Given the description of an element on the screen output the (x, y) to click on. 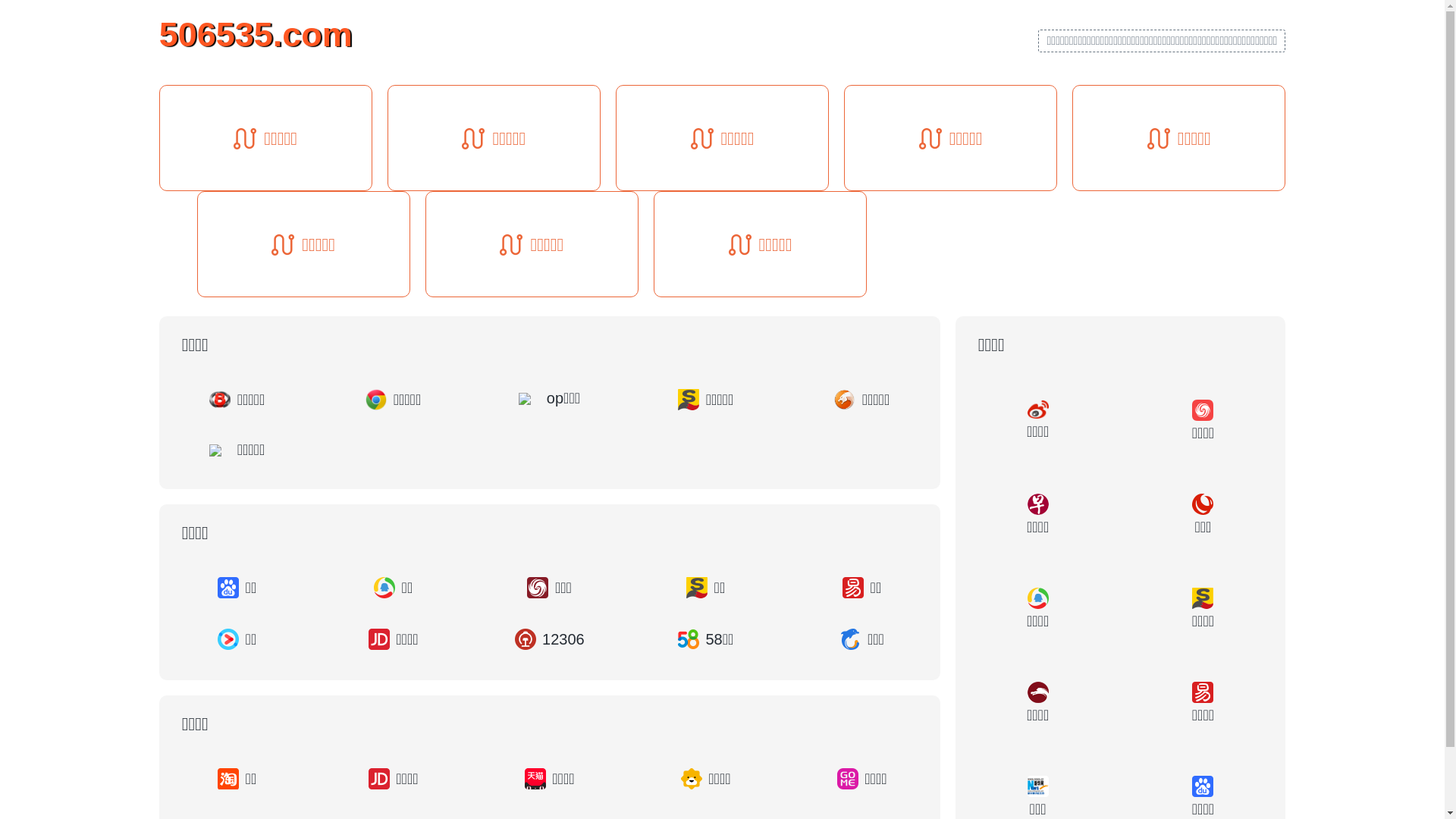
506535.com Element type: text (255, 32)
12306 Element type: text (549, 639)
